Given the description of an element on the screen output the (x, y) to click on. 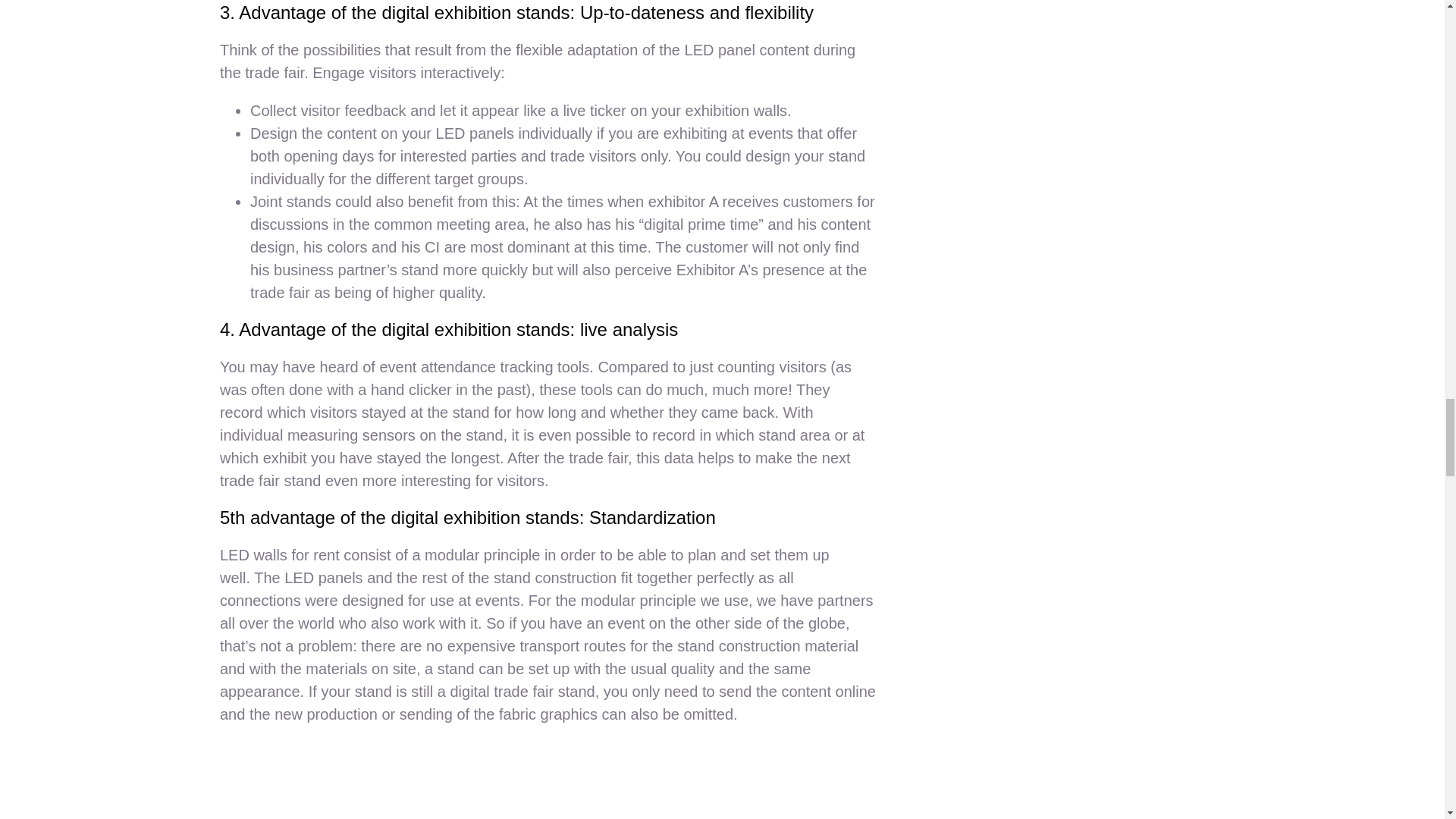
Advantages and disadvantages of digital exhibition stands 4 (547, 780)
